Given the description of an element on the screen output the (x, y) to click on. 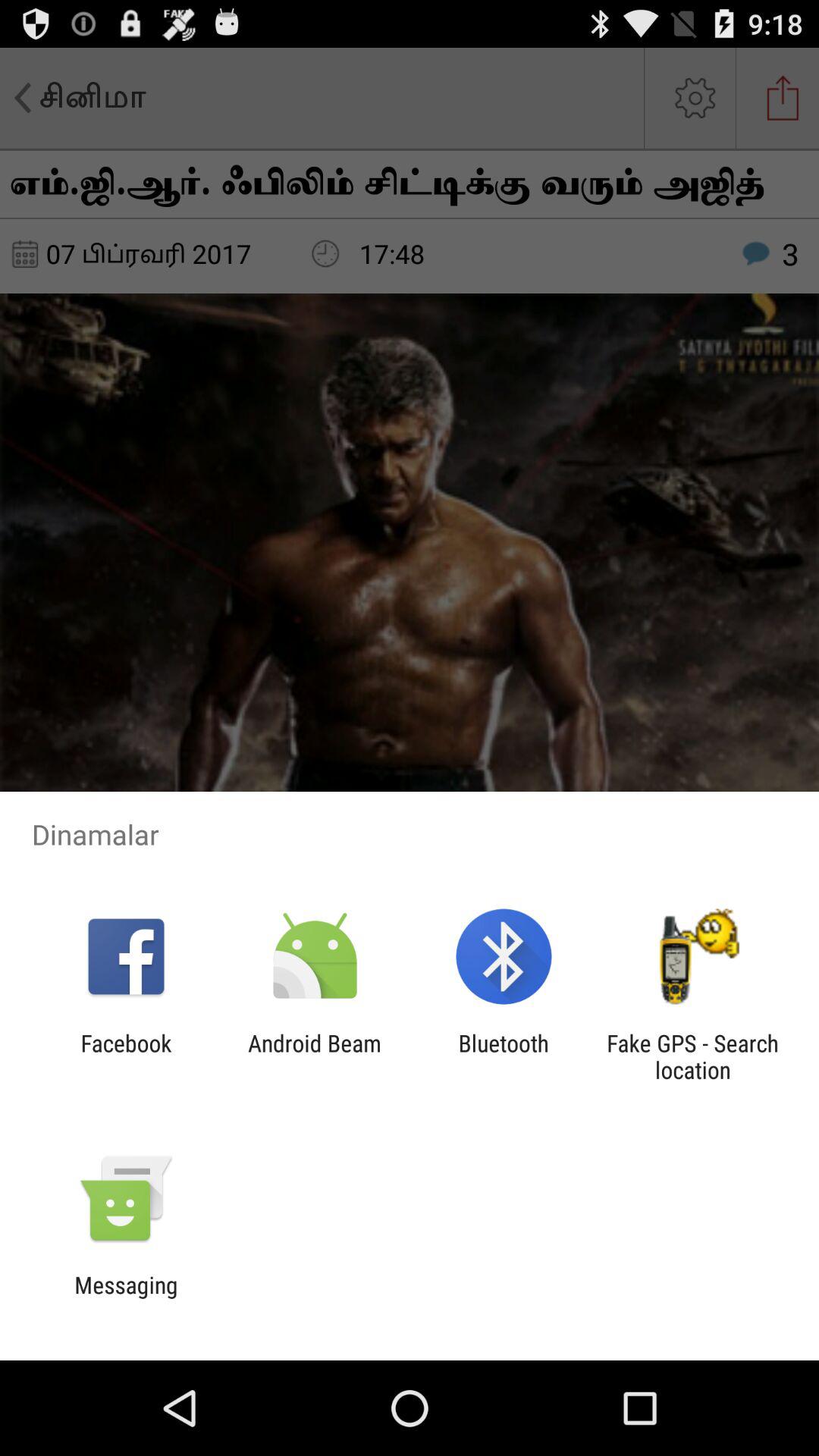
tap the item to the left of the fake gps search (503, 1056)
